Given the description of an element on the screen output the (x, y) to click on. 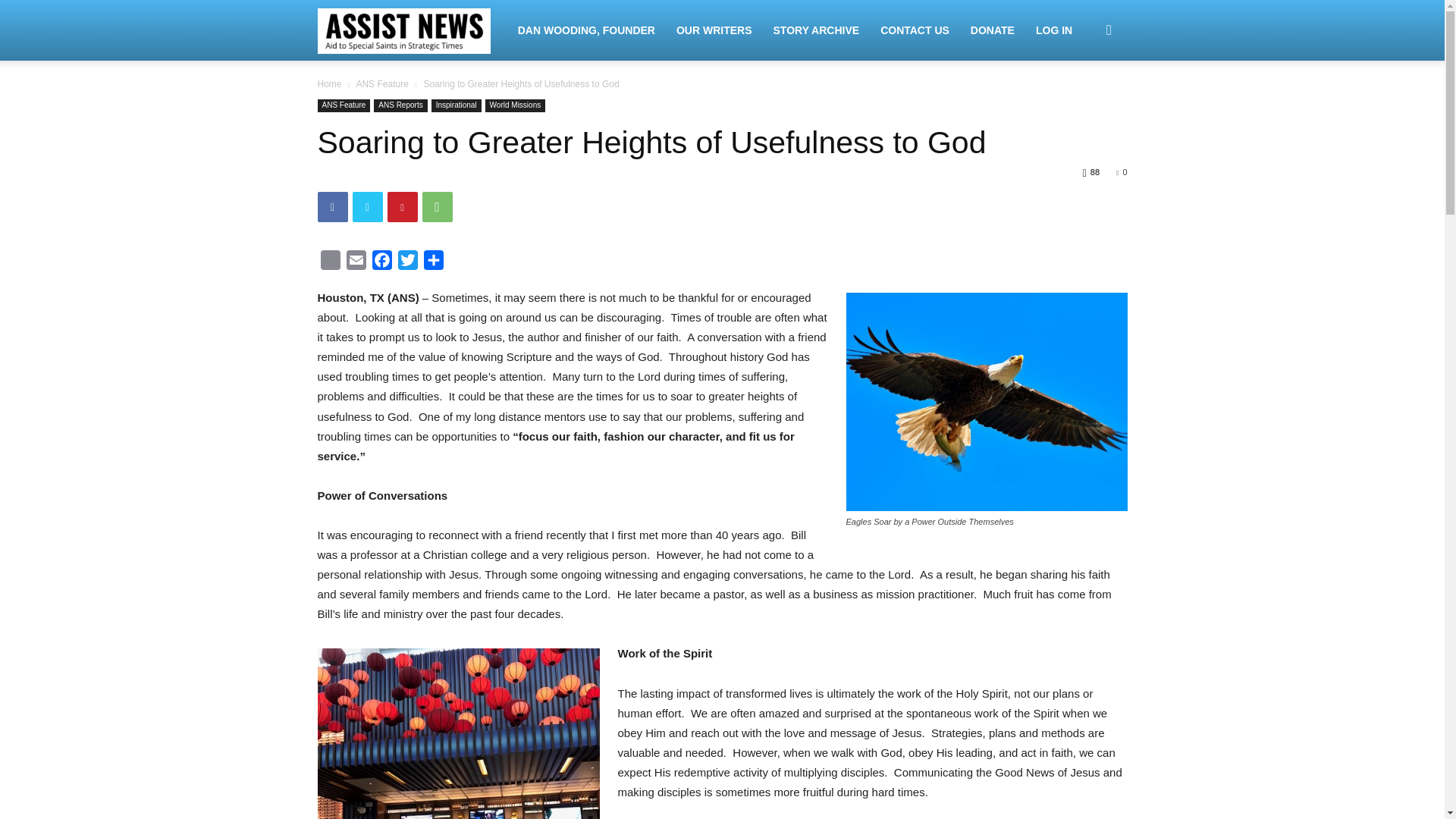
Facebook (381, 263)
Home (328, 83)
WhatsApp (436, 206)
OUR WRITERS (713, 30)
World Missions (515, 105)
DAN WOODING, FOUNDER (585, 30)
0 (1121, 171)
ANS Reports (400, 105)
Print (329, 263)
ANS Feature (381, 83)
ASSIST NEWS (411, 30)
Email (355, 263)
ANS Feature (343, 105)
